Given the description of an element on the screen output the (x, y) to click on. 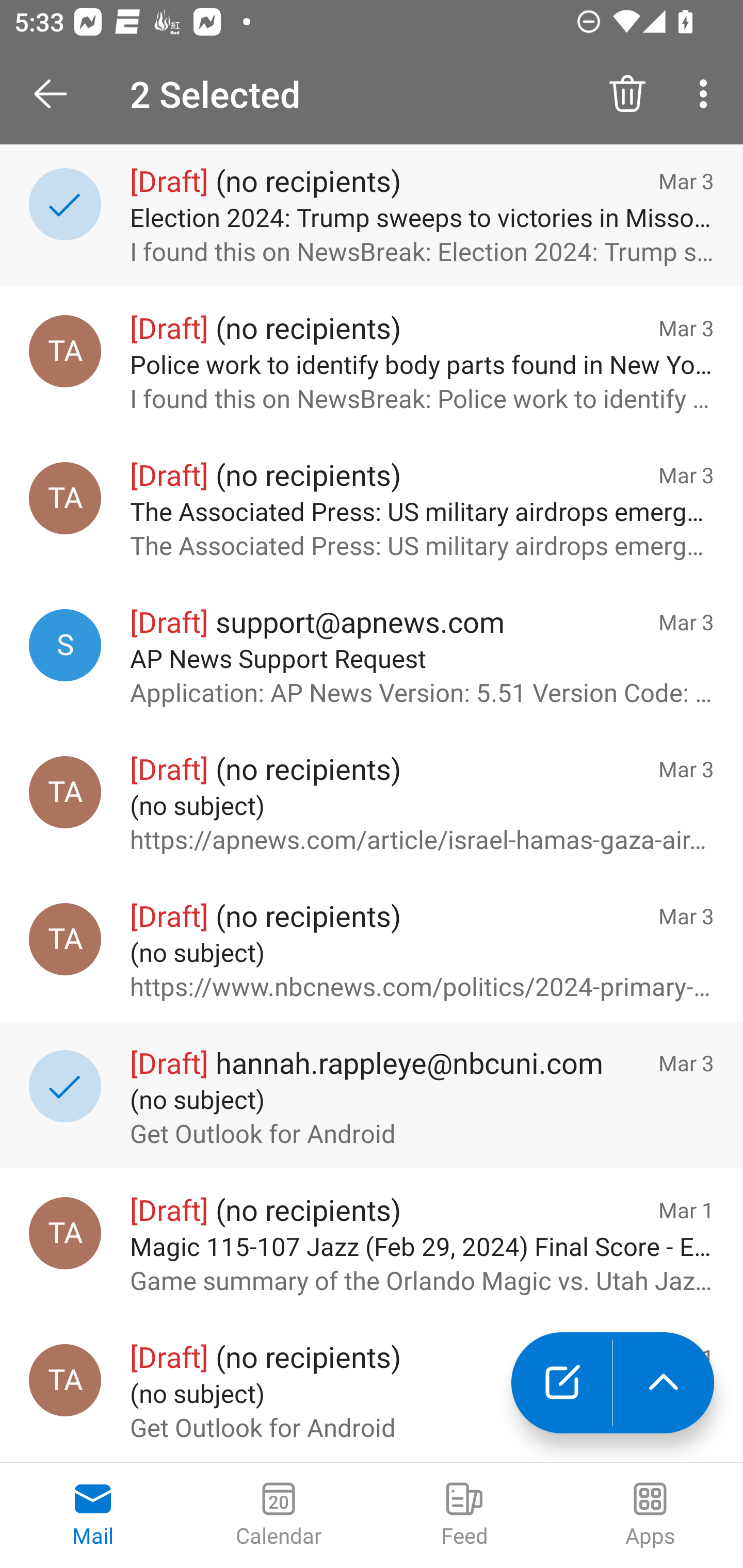
Delete (626, 93)
More options (706, 93)
Open Navigation Drawer (57, 94)
Test Appium, testappium002@outlook.com (64, 351)
Test Appium, testappium002@outlook.com (64, 498)
support@apnews.com (64, 645)
Test Appium, testappium002@outlook.com (64, 791)
Test Appium, testappium002@outlook.com (64, 939)
Test Appium, testappium002@outlook.com (64, 1233)
New mail (561, 1382)
launch the extended action menu (663, 1382)
Test Appium, testappium002@outlook.com (64, 1379)
Calendar (278, 1515)
Feed (464, 1515)
Apps (650, 1515)
